Given the description of an element on the screen output the (x, y) to click on. 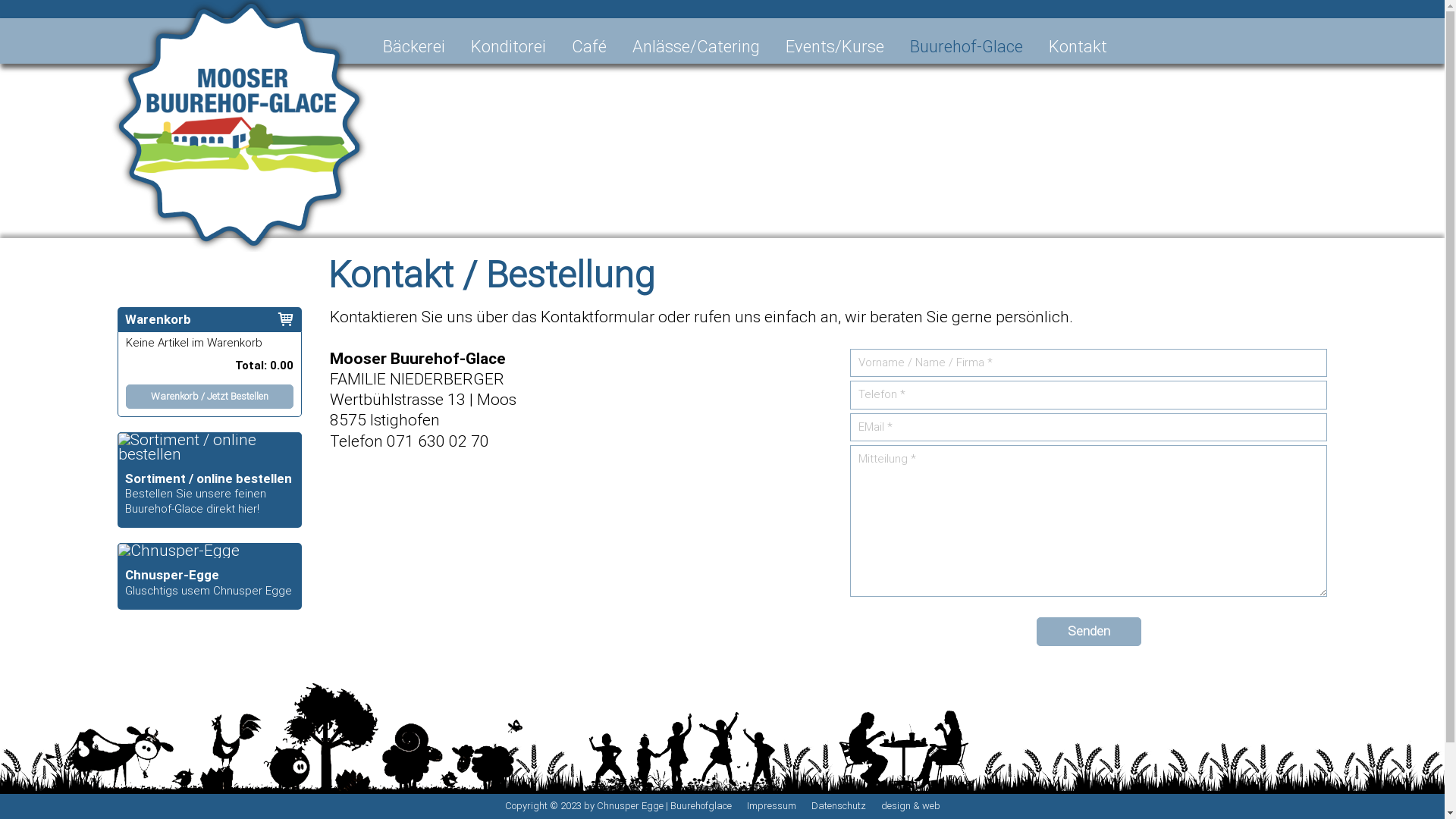
Kontakt Element type: text (1077, 46)
Konditorei Element type: text (508, 46)
Senden Element type: text (1088, 631)
Datenschutz Element type: text (838, 805)
Chnusper-Egge
Gluschtigs usem Chnusper Egge Element type: text (209, 575)
Events/Kurse Element type: text (834, 46)
Buurehof-Glace Element type: text (966, 46)
Chnusper Egge | Buurehofglace Element type: text (663, 805)
design & web Element type: text (910, 805)
Impressum Element type: text (770, 805)
Warenkorb / Jetzt Bestellen Element type: text (209, 391)
